Given the description of an element on the screen output the (x, y) to click on. 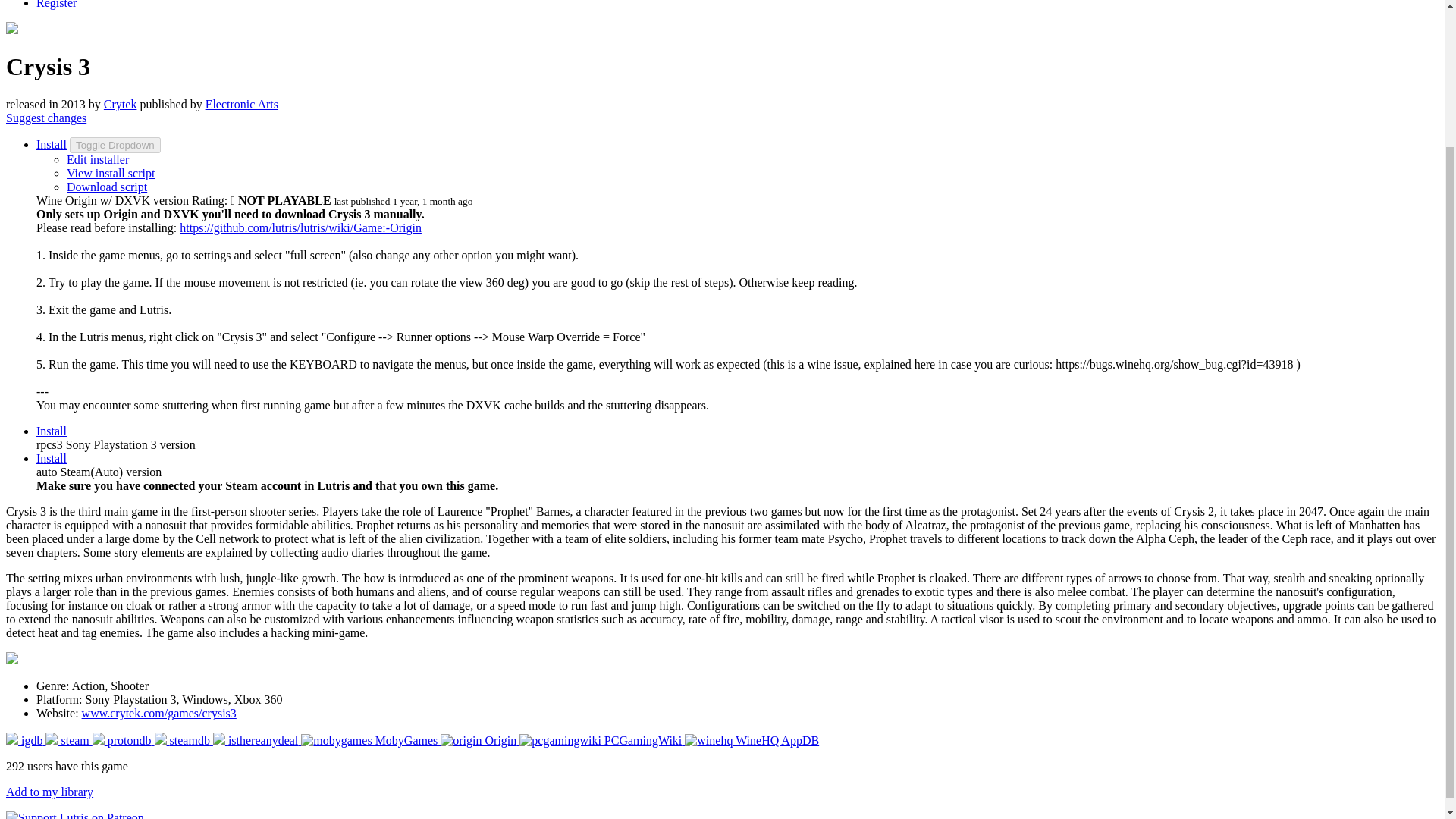
igdb (25, 739)
View install script (110, 173)
Origin (480, 739)
steam (68, 739)
Install (51, 431)
Edit installer (97, 159)
Download script (106, 186)
Add to my library (49, 791)
Install (51, 458)
Install (51, 144)
steamdb (183, 739)
MobyGames (371, 739)
Electronic Arts (241, 103)
isthereanydeal (256, 739)
Toggle Dropdown (114, 145)
